Given the description of an element on the screen output the (x, y) to click on. 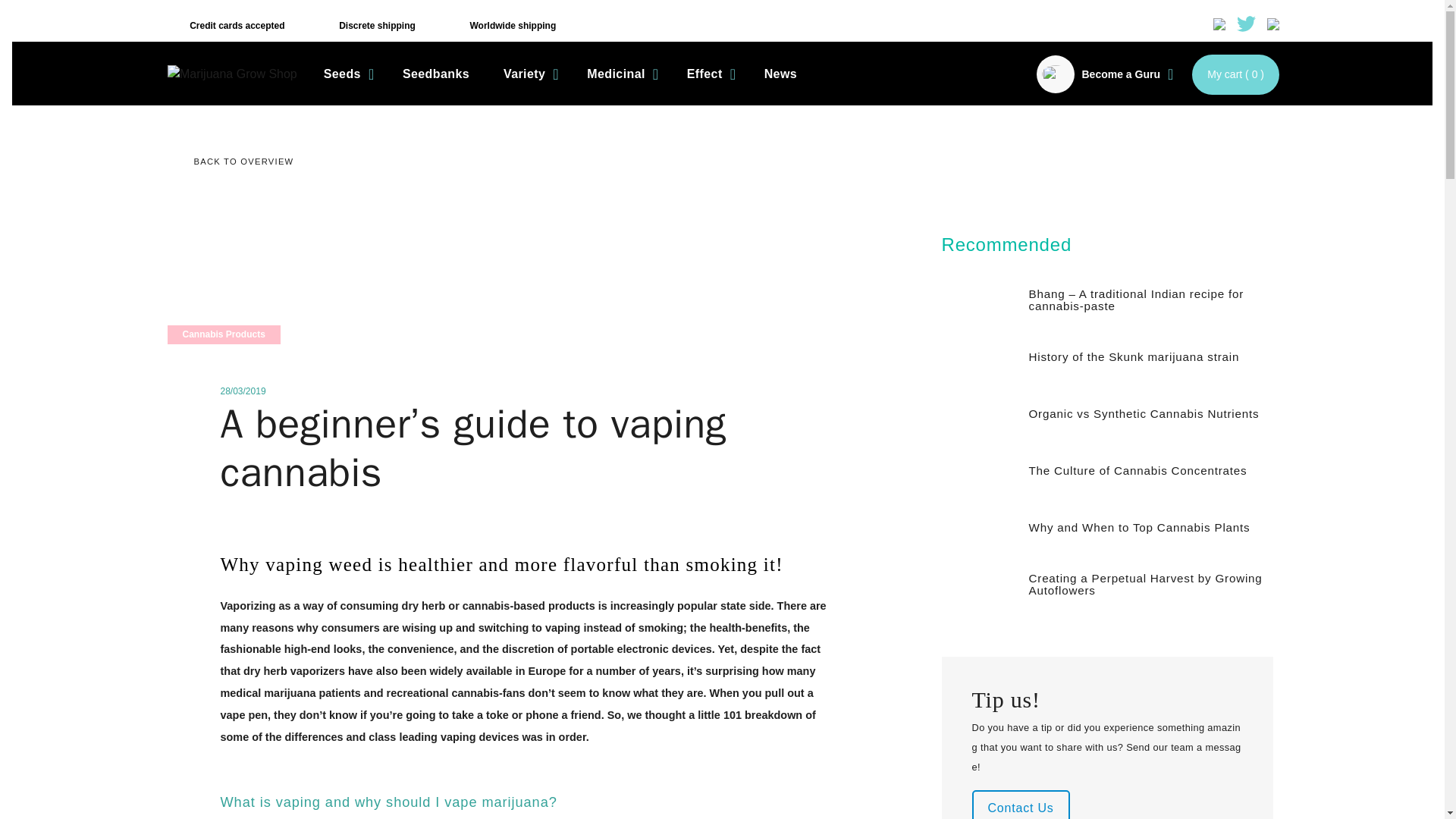
Seedbanks (435, 74)
Medicinal (620, 74)
Marijuana Grow Shop (232, 74)
Effect (708, 74)
Seeds (346, 74)
Variety (527, 74)
